Given the description of an element on the screen output the (x, y) to click on. 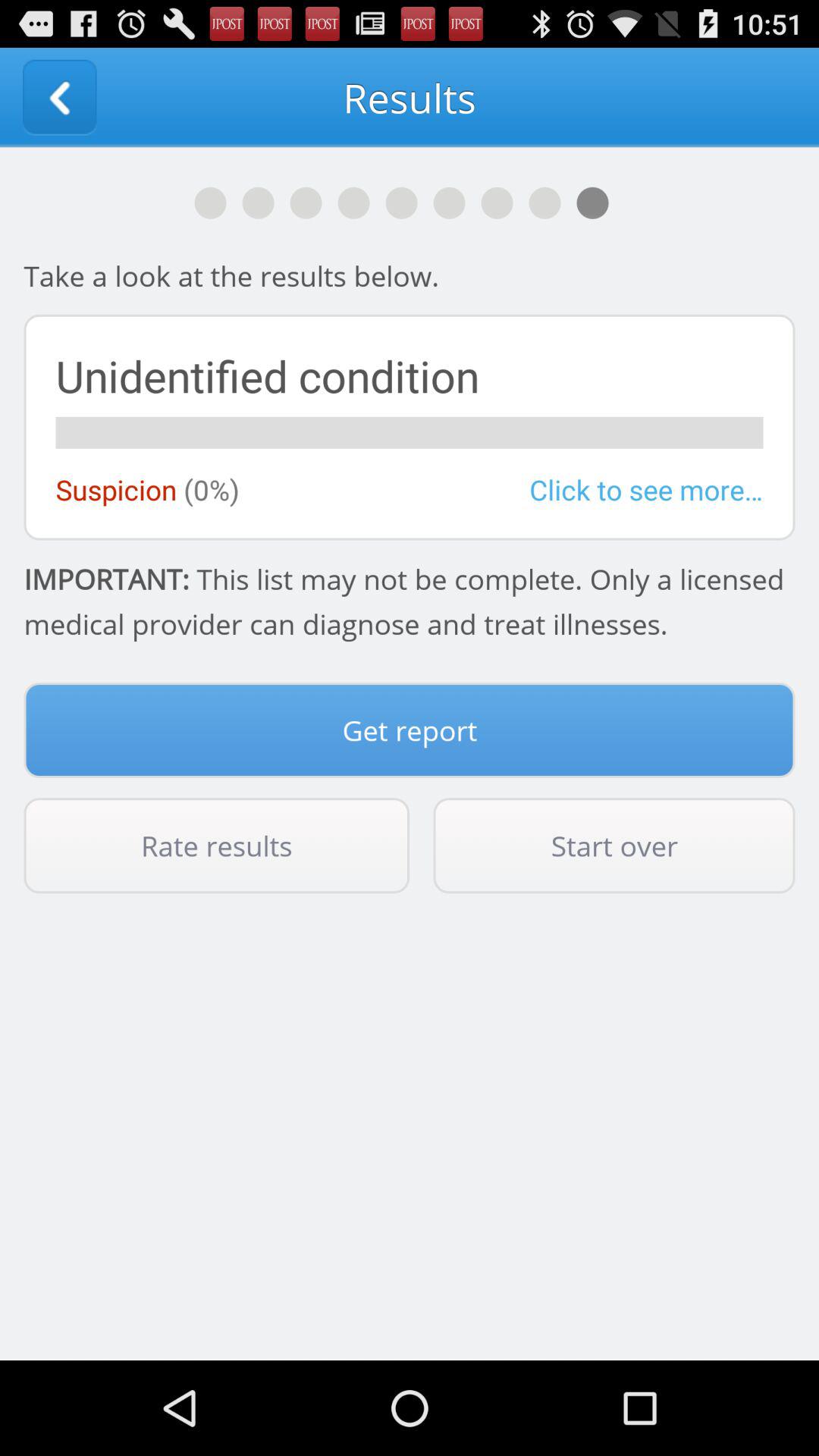
press icon next to the results (59, 97)
